Given the description of an element on the screen output the (x, y) to click on. 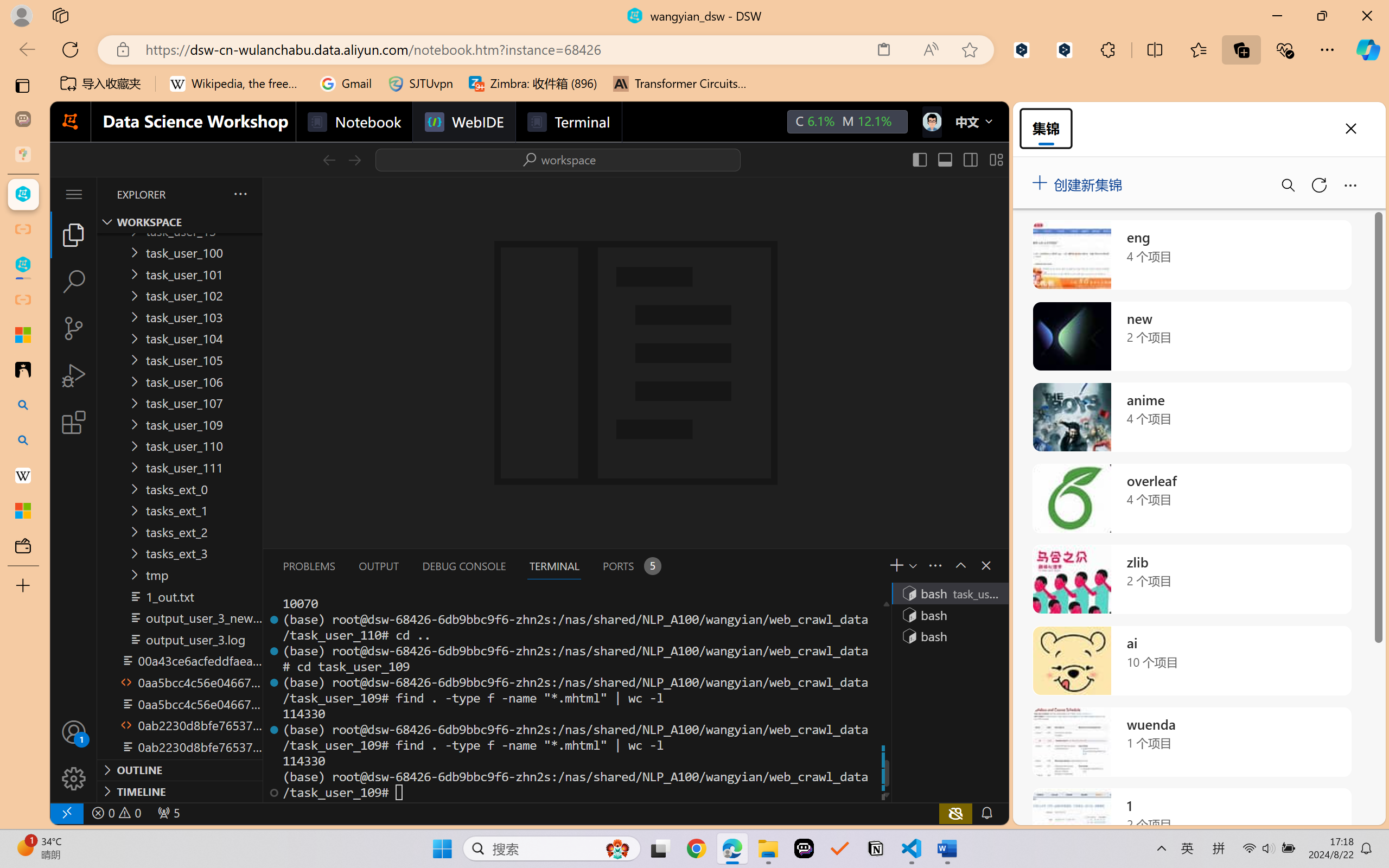
Debug Console (Ctrl+Shift+Y) (463, 565)
Terminal actions (812, 565)
icon (930, 119)
Class: actions-container (974, 565)
No Problems (115, 812)
Explorer Section: workspace (179, 221)
Ports - 5 forwarded ports (630, 565)
Toggle Secondary Side Bar (Ctrl+Alt+B) (969, 159)
Explorer actions (211, 194)
